Given the description of an element on the screen output the (x, y) to click on. 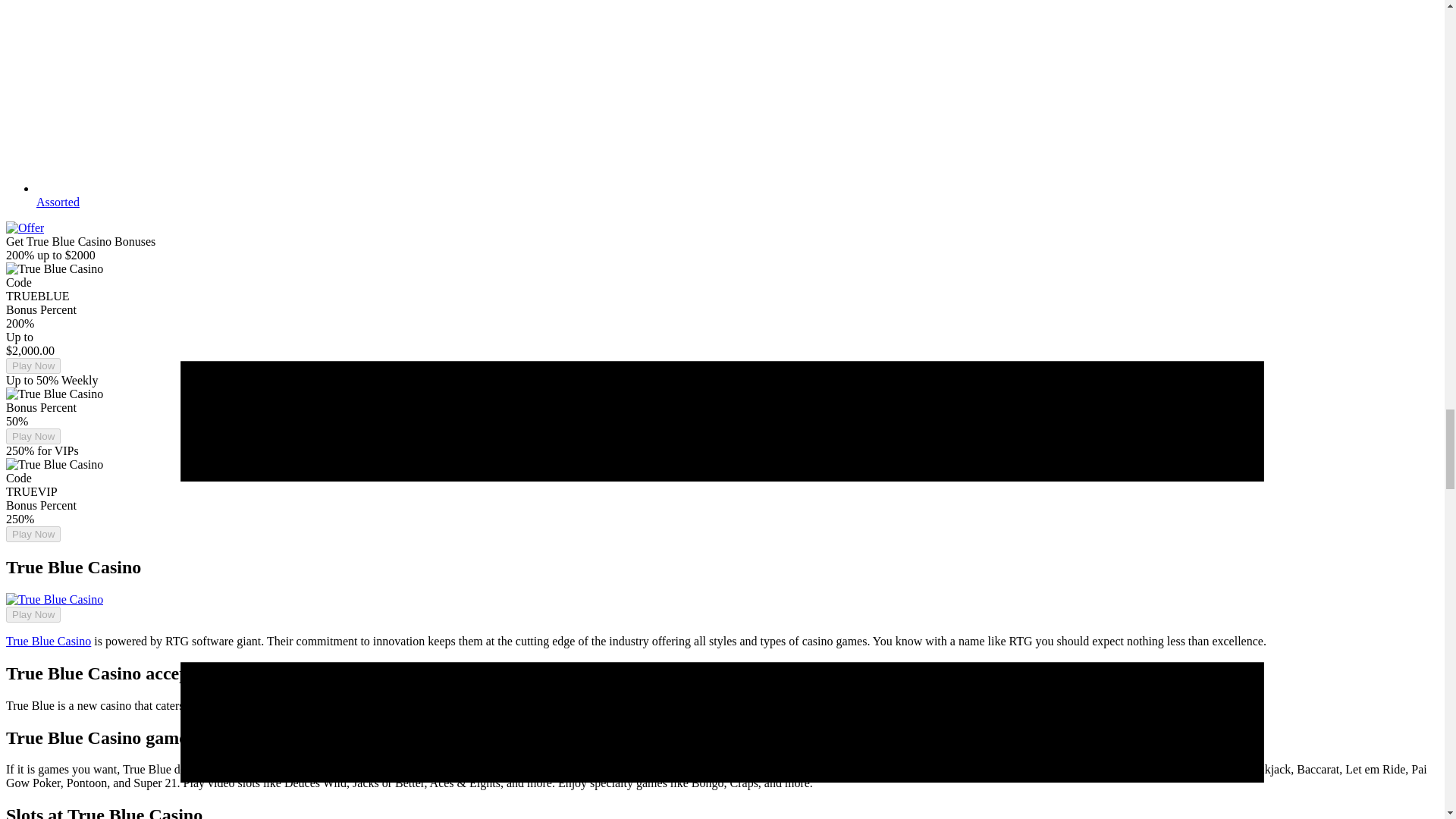
Play Now (33, 436)
Play Now (33, 534)
Play Now (33, 614)
Assorted (58, 201)
Play Now (33, 365)
True Blue Casino (47, 640)
